Given the description of an element on the screen output the (x, y) to click on. 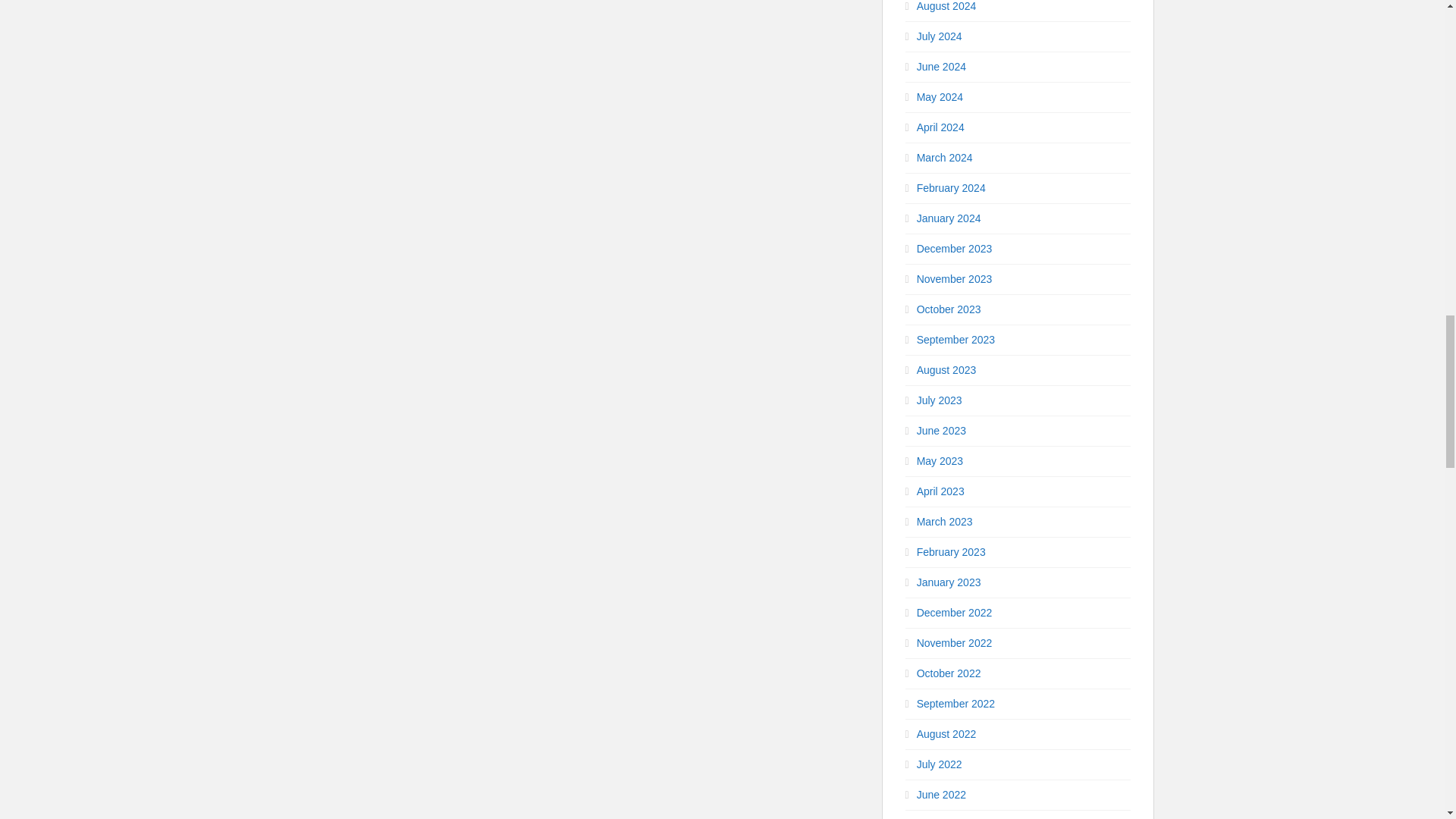
August 2024 (946, 6)
July 2024 (939, 36)
June 2024 (941, 66)
